Given the description of an element on the screen output the (x, y) to click on. 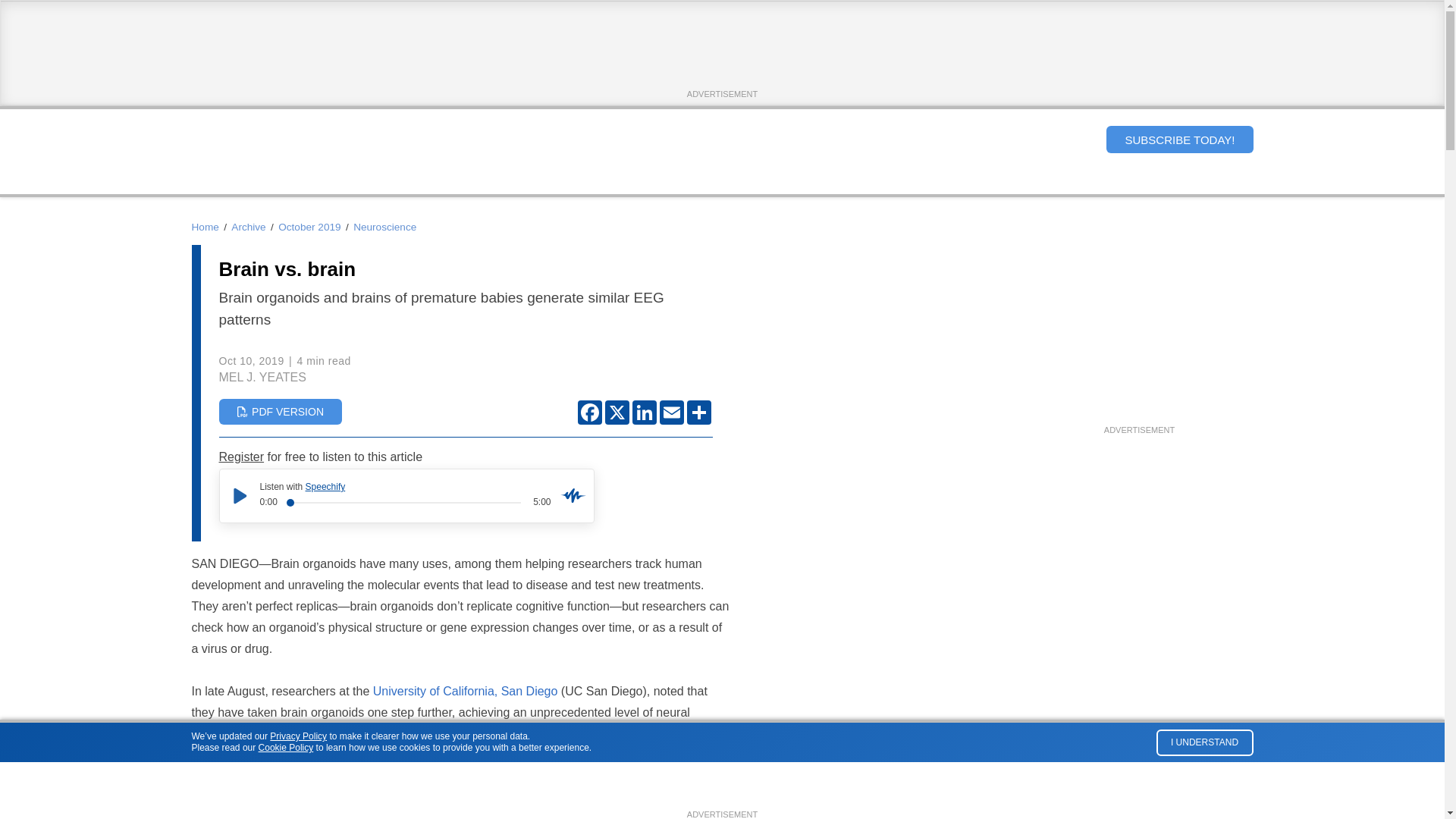
DISEASE FOCUS (665, 179)
3rd party ad content (721, 52)
3rd party ad content (1138, 328)
Search (1081, 139)
SUBSCRIBE TODAY! (1179, 139)
